Given the description of an element on the screen output the (x, y) to click on. 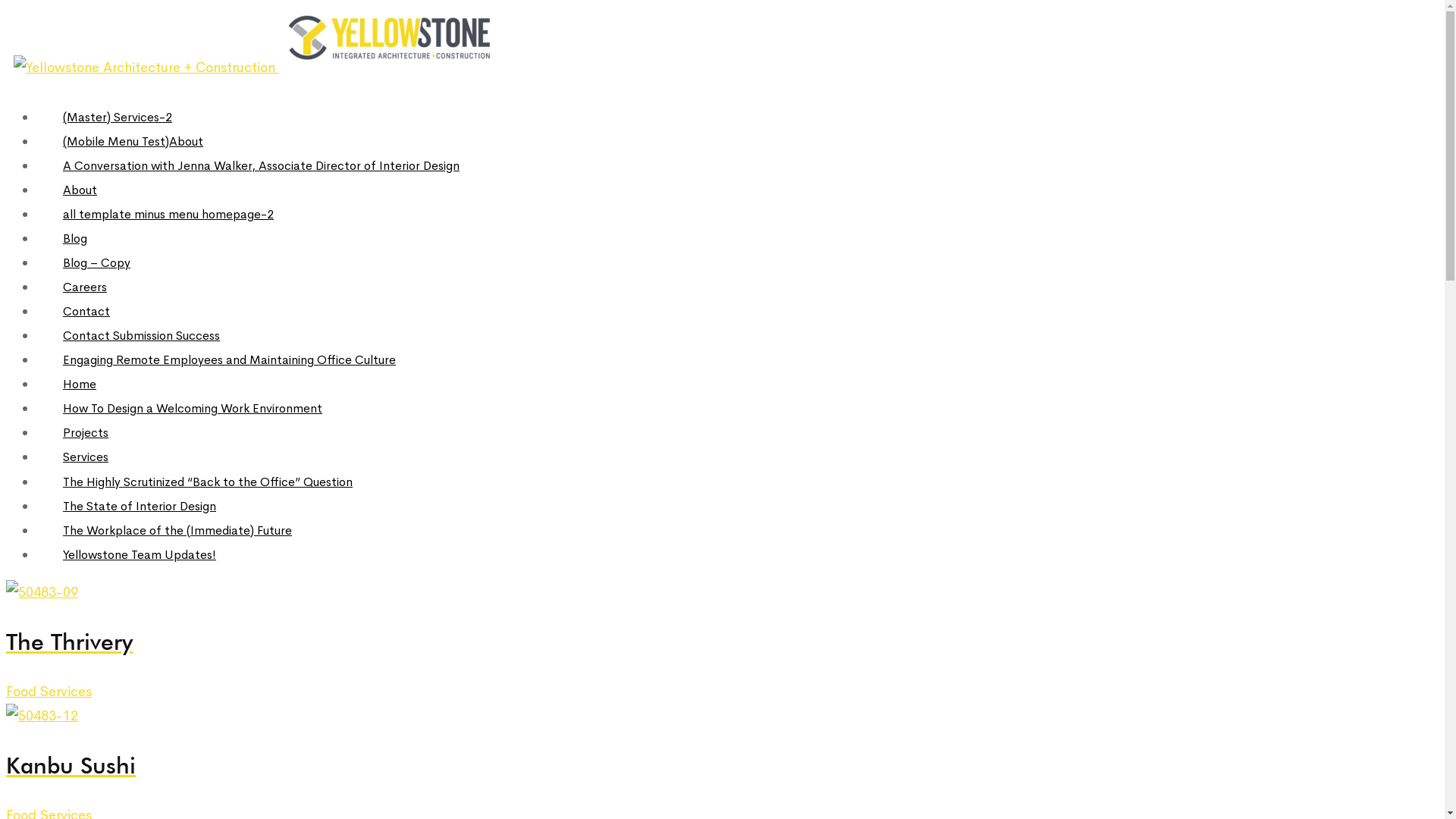
The State of Interior Design Element type: text (139, 506)
The Thrivery
Food Services Element type: text (722, 641)
About Element type: text (79, 189)
How To Design a Welcoming Work Environment Element type: text (192, 408)
Home Element type: text (79, 384)
Contact Submission Success Element type: text (141, 335)
Contact Element type: text (86, 311)
The Workplace of the (Immediate) Future Element type: text (177, 530)
Projects Element type: text (85, 432)
Services Element type: text (85, 456)
Blog Element type: text (74, 238)
(Master) Services-2 Element type: text (117, 117)
Engaging Remote Employees and Maintaining Office Culture Element type: text (229, 359)
Careers Element type: text (84, 286)
(Mobile Menu Test)About Element type: text (132, 141)
all template minus menu homepage-2 Element type: text (168, 214)
Yellowstone Team Updates! Element type: text (139, 554)
